Given the description of an element on the screen output the (x, y) to click on. 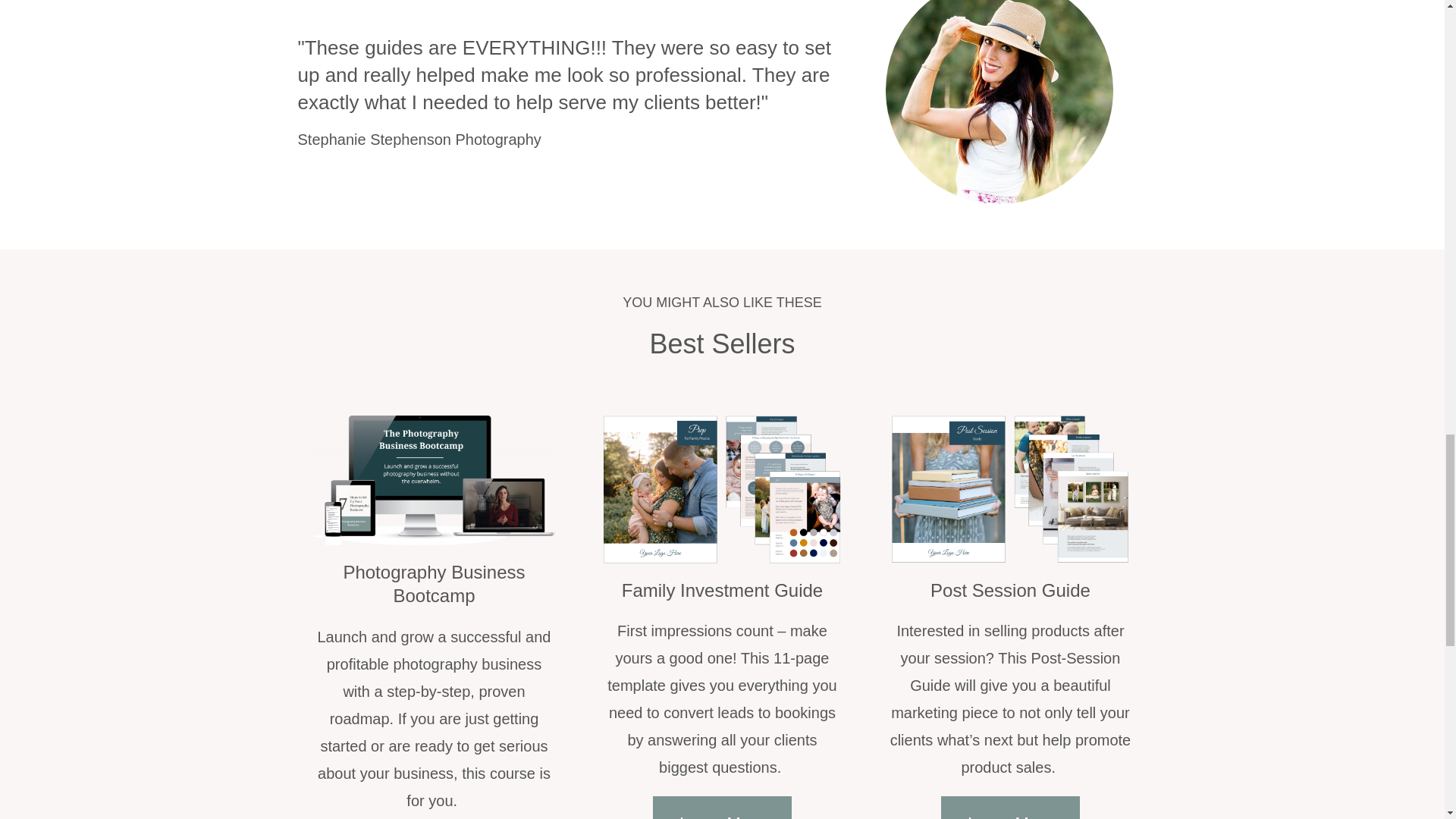
Steph (999, 101)
